Given the description of an element on the screen output the (x, y) to click on. 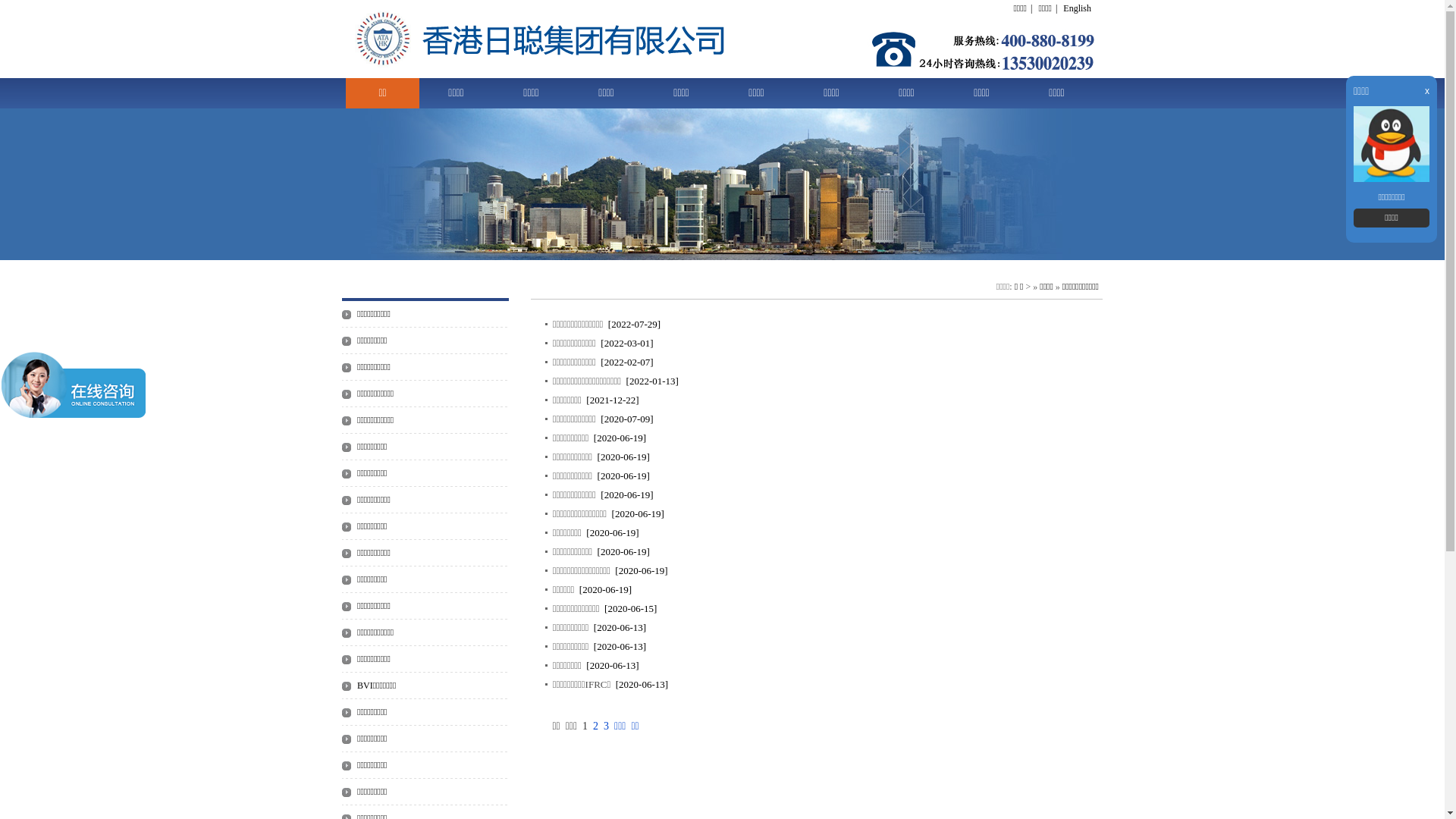
3 Element type: text (605, 725)
English Element type: text (1077, 8)
2 Element type: text (595, 725)
